Given the description of an element on the screen output the (x, y) to click on. 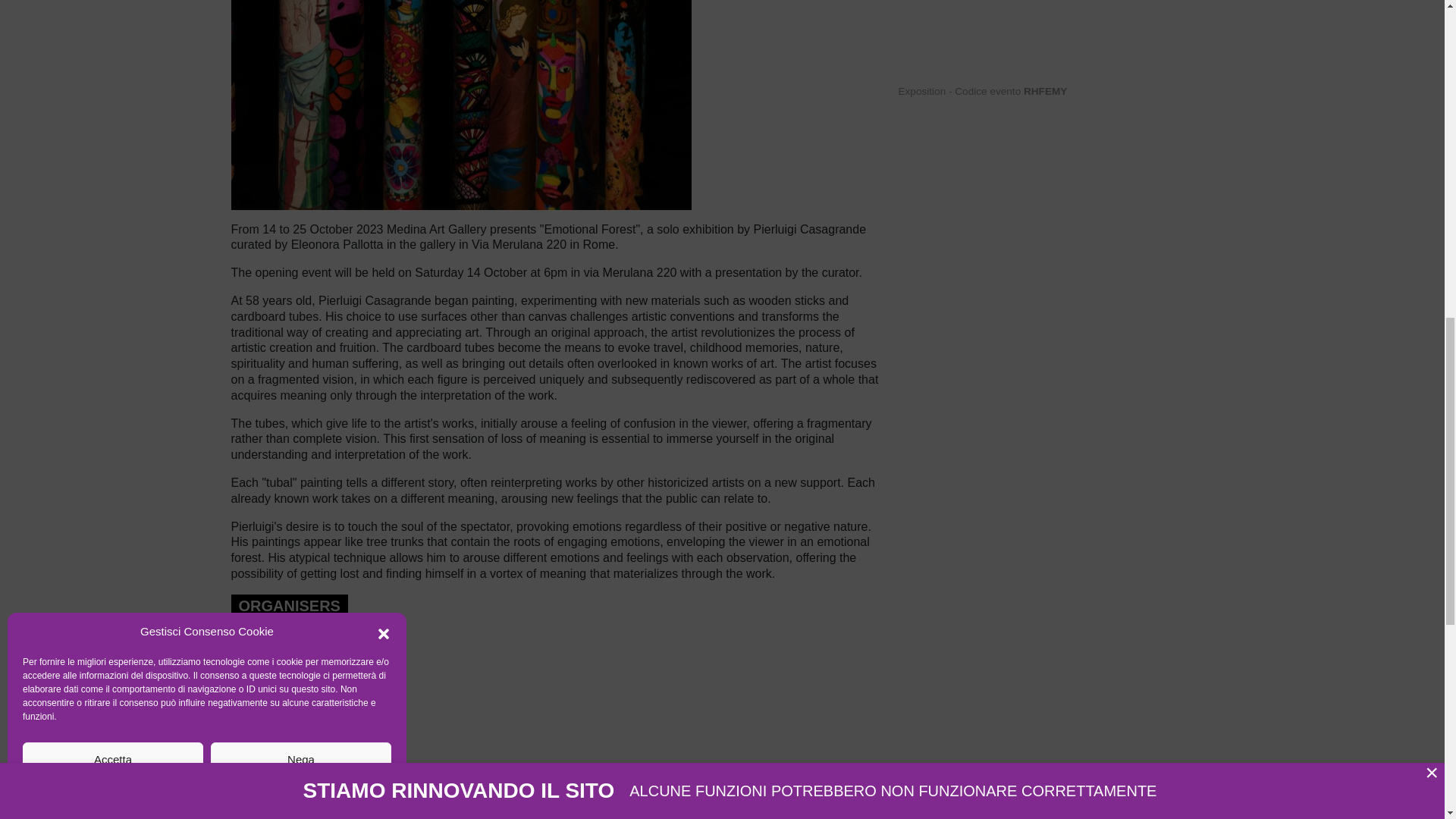
Medina Art Gallery Roma (304, 698)
MEDINA ART GALLERY ROMA (304, 698)
